Given the description of an element on the screen output the (x, y) to click on. 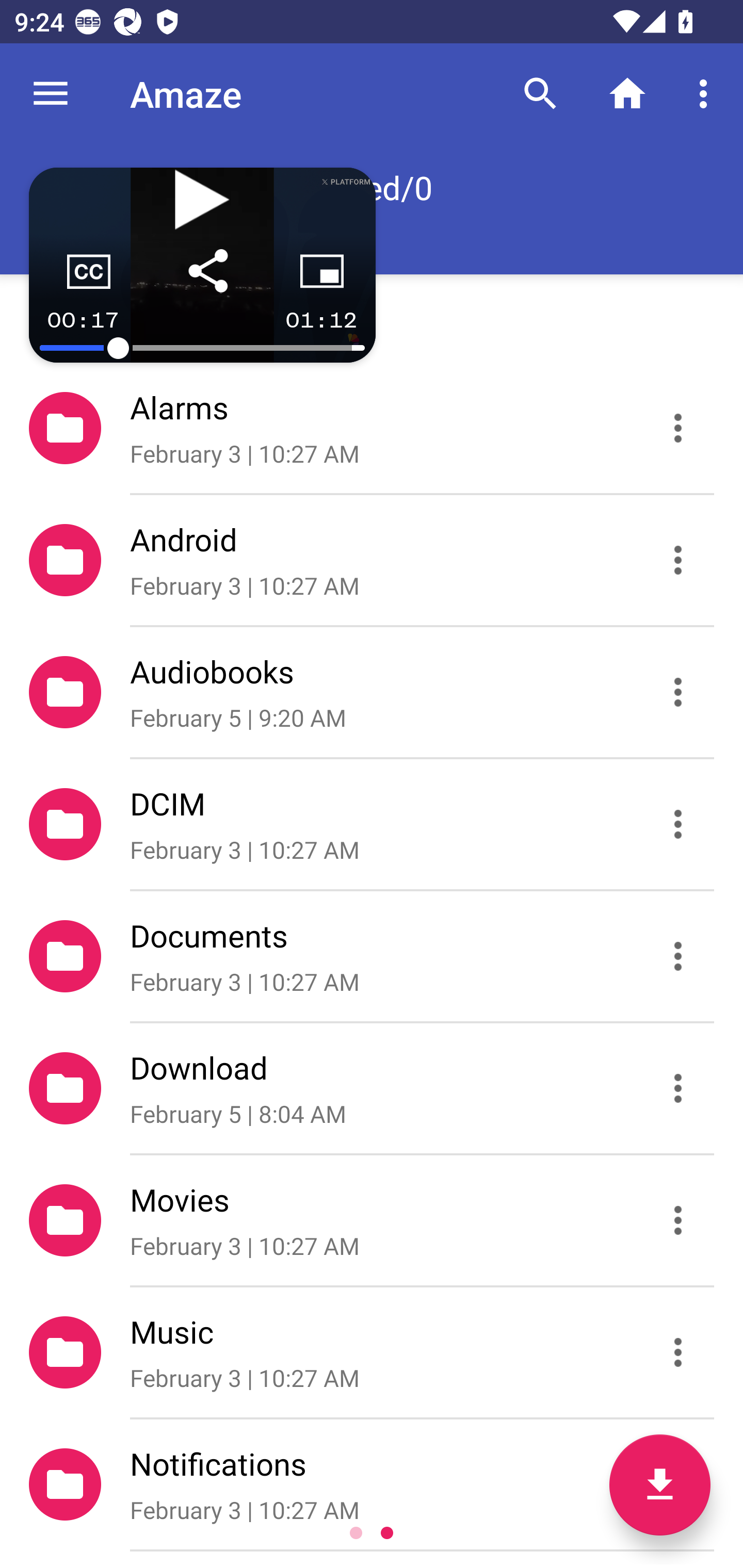
Navigate up (50, 93)
Search (540, 93)
Home (626, 93)
More options (706, 93)
Alarms February 3 | 10:27 AM (371, 427)
Android February 3 | 10:27 AM (371, 560)
Audiobooks February 5 | 9:20 AM (371, 692)
DCIM February 3 | 10:27 AM (371, 823)
Documents February 3 | 10:27 AM (371, 955)
Download February 5 | 8:04 AM (371, 1088)
Movies February 3 | 10:27 AM (371, 1220)
Music February 3 | 10:27 AM (371, 1352)
Notifications February 3 | 10:27 AM (371, 1484)
